Given the description of an element on the screen output the (x, y) to click on. 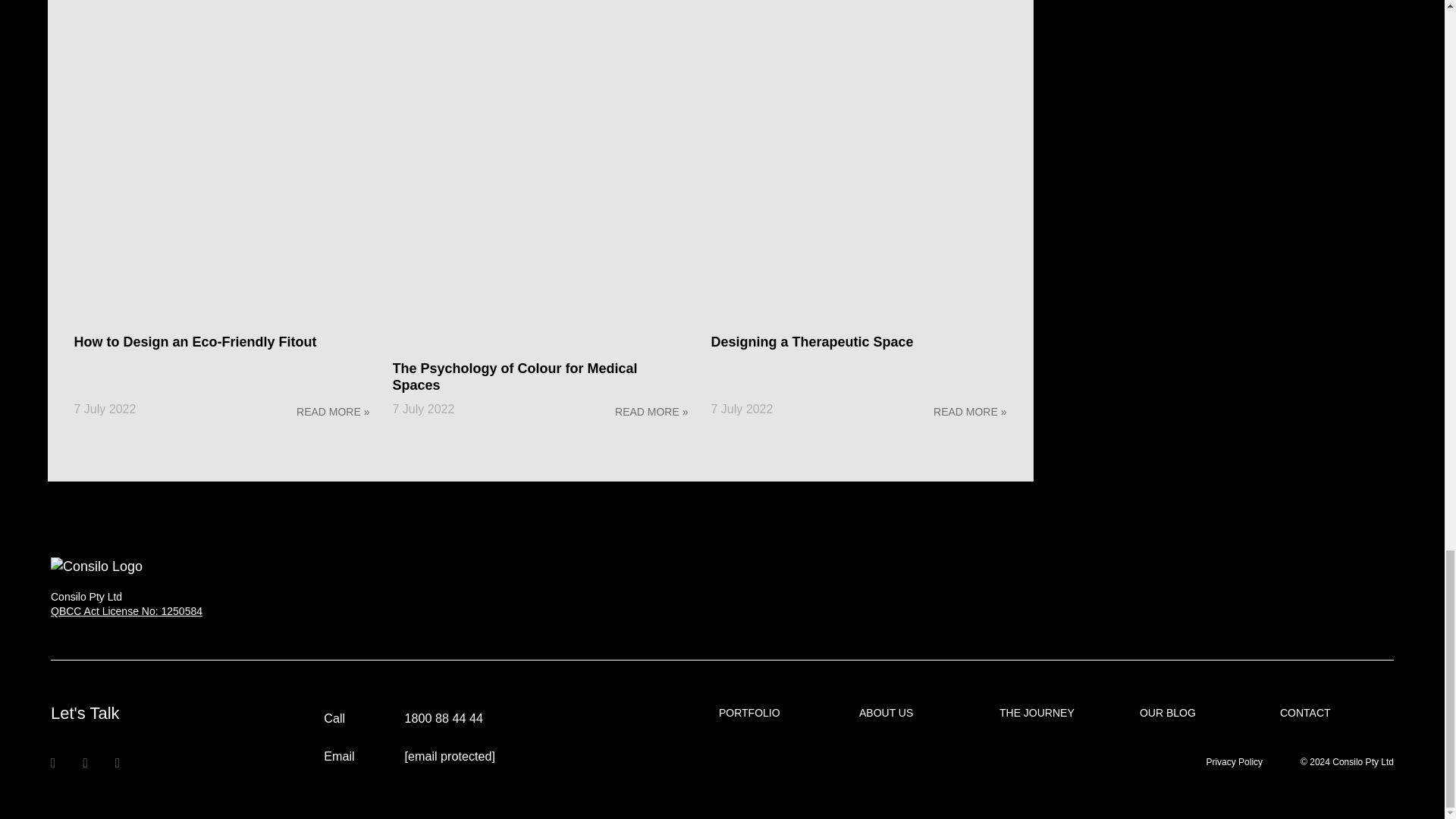
The Psychology of Colour for Medical Spaces (515, 377)
How to Design an Eco-Friendly Fitout (195, 341)
Designing a Therapeutic Space (812, 341)
